Given the description of an element on the screen output the (x, y) to click on. 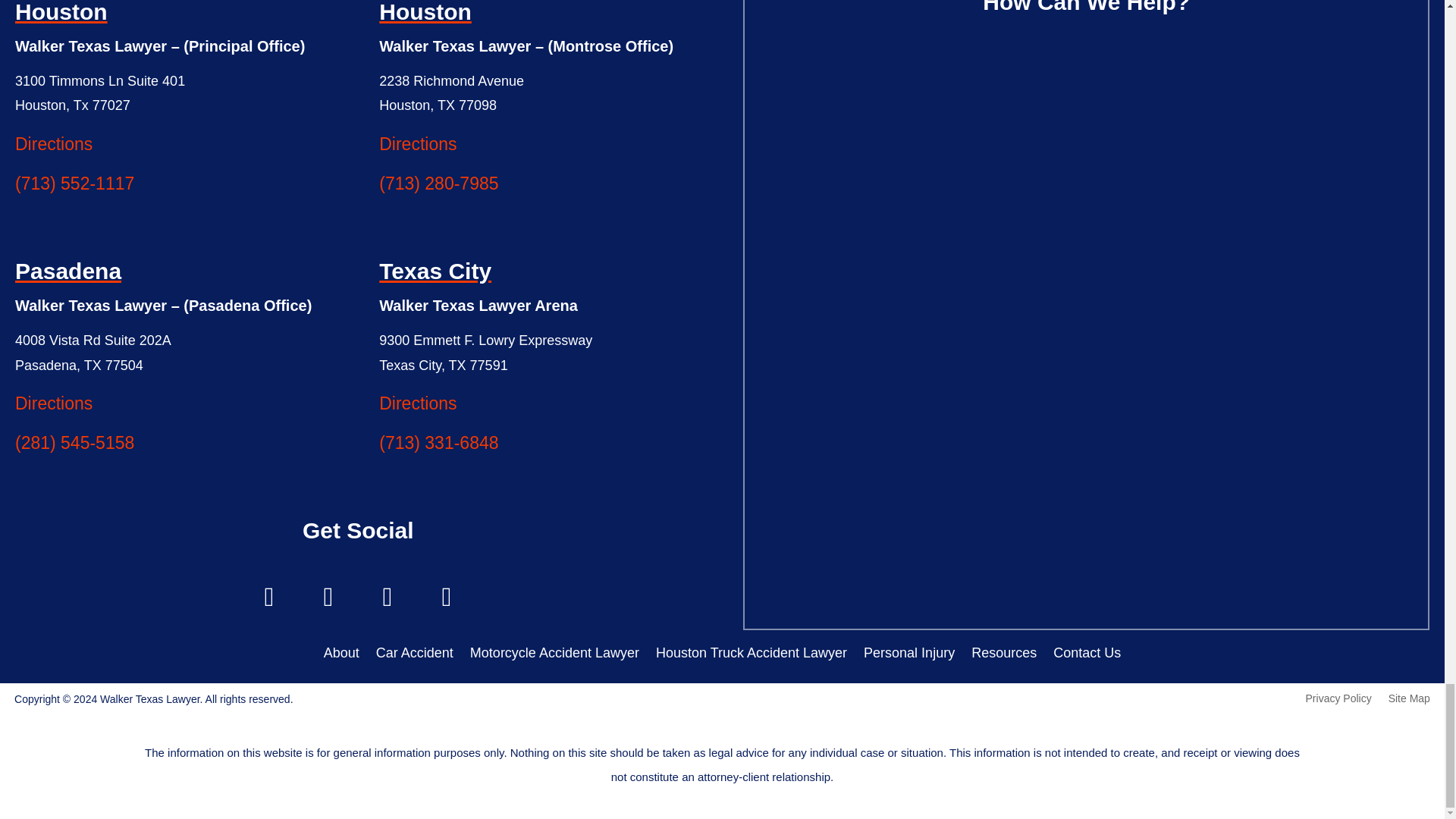
Follow on Instagram (387, 597)
Follow on X (328, 597)
Follow on Youtube (446, 597)
Follow on Facebook (269, 597)
